Given the description of an element on the screen output the (x, y) to click on. 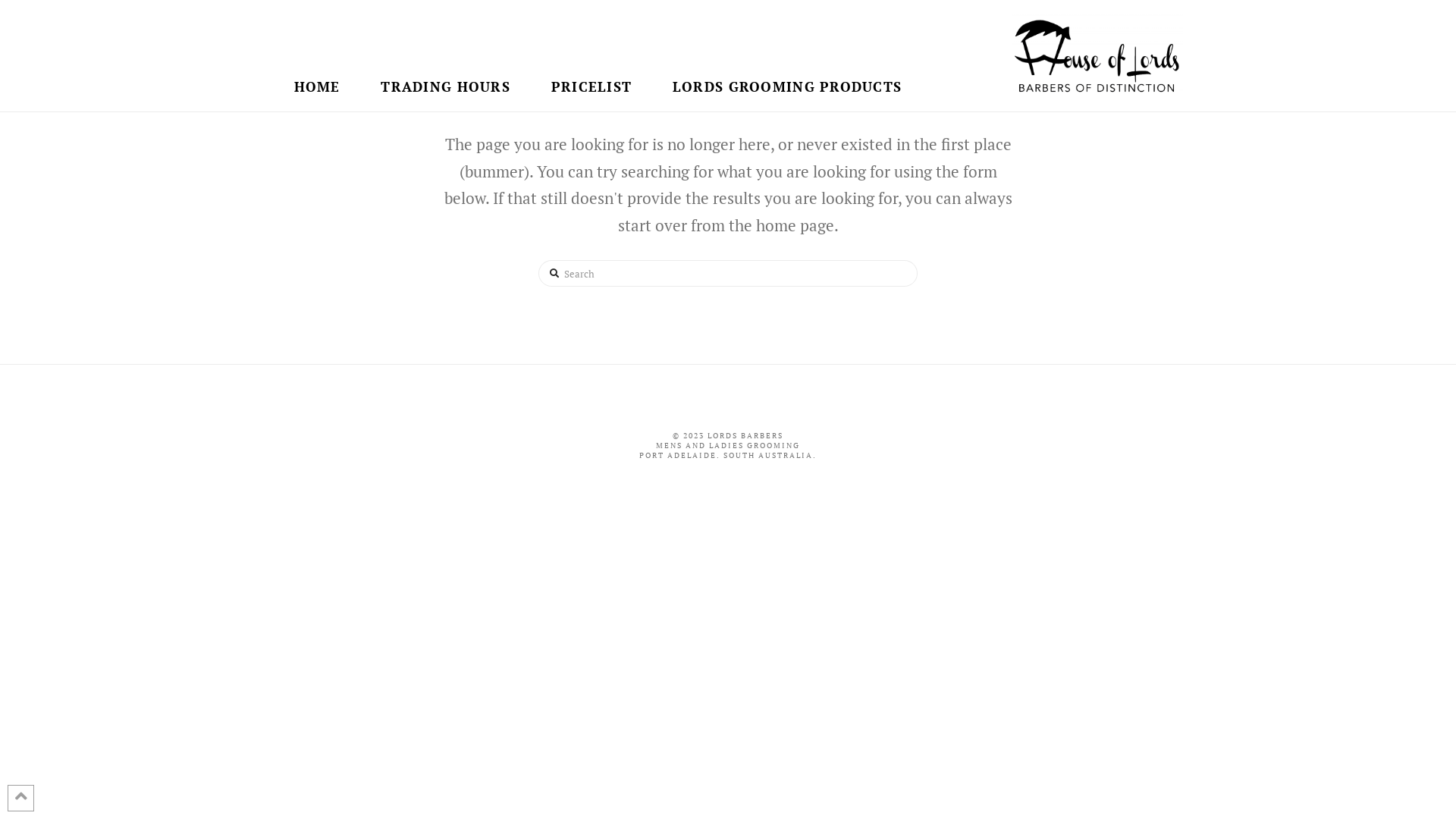
Back to Top Element type: hover (20, 797)
HOME Element type: text (316, 39)
TRADING HOURS Element type: text (445, 39)
PRICELIST Element type: text (590, 39)
LORDS GROOMING PRODUCTS Element type: text (786, 39)
